Given the description of an element on the screen output the (x, y) to click on. 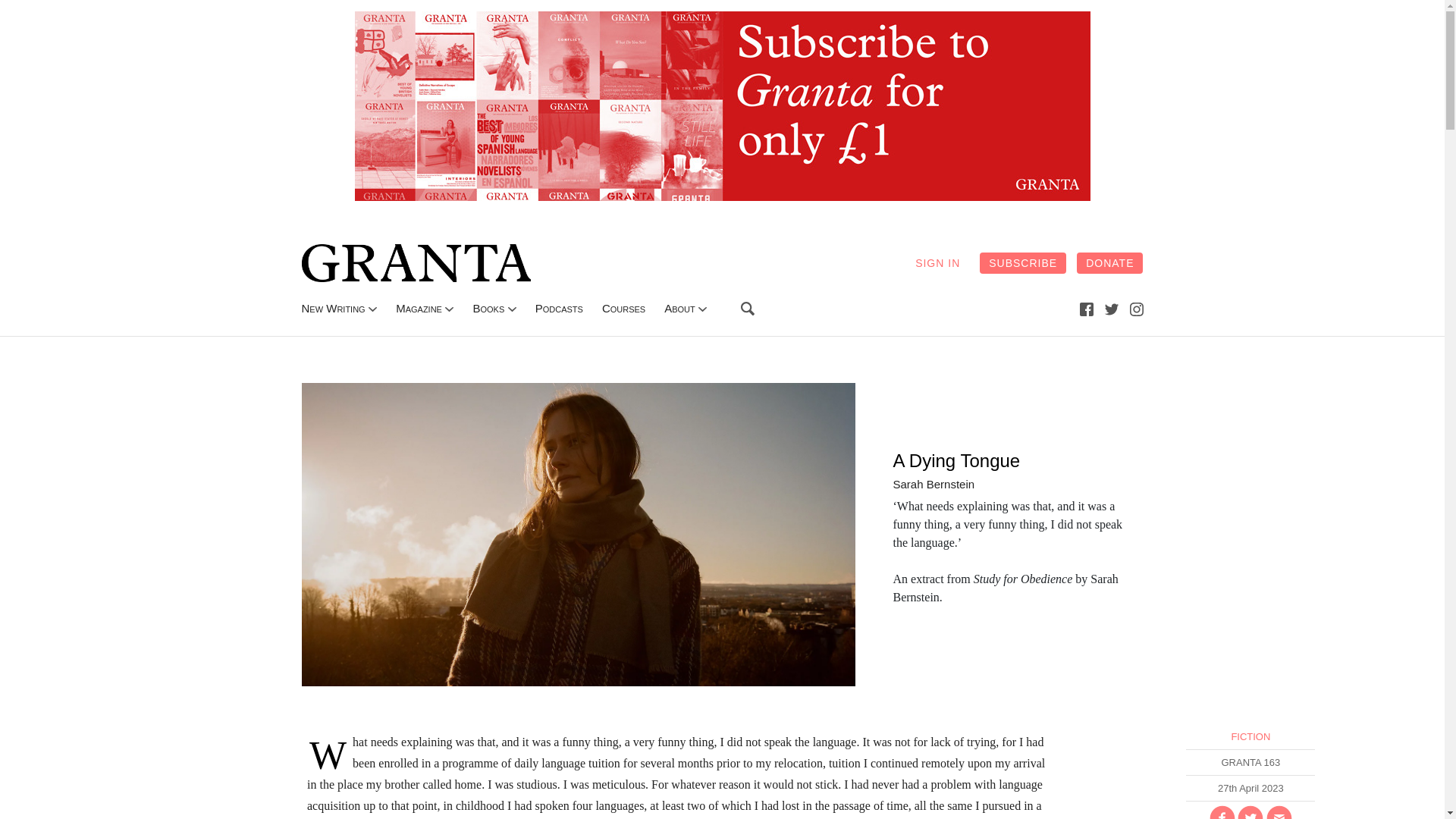
facebook Created with Sketch. (1086, 309)
facebook-with-circle Created with Sketch. (1221, 812)
SUBSCRIBE (1022, 262)
about (679, 308)
twitter Created with Sketch. (1111, 308)
Magazine (419, 308)
About (679, 308)
mail-with-circle Created with Sketch. (1279, 812)
twitter Created with Sketch. (1111, 309)
DONATE (1109, 262)
podcasts (559, 308)
Courses (623, 308)
magazine (419, 308)
magnifying-glass Created with Sketch. (747, 308)
SIGN IN (937, 262)
